Given the description of an element on the screen output the (x, y) to click on. 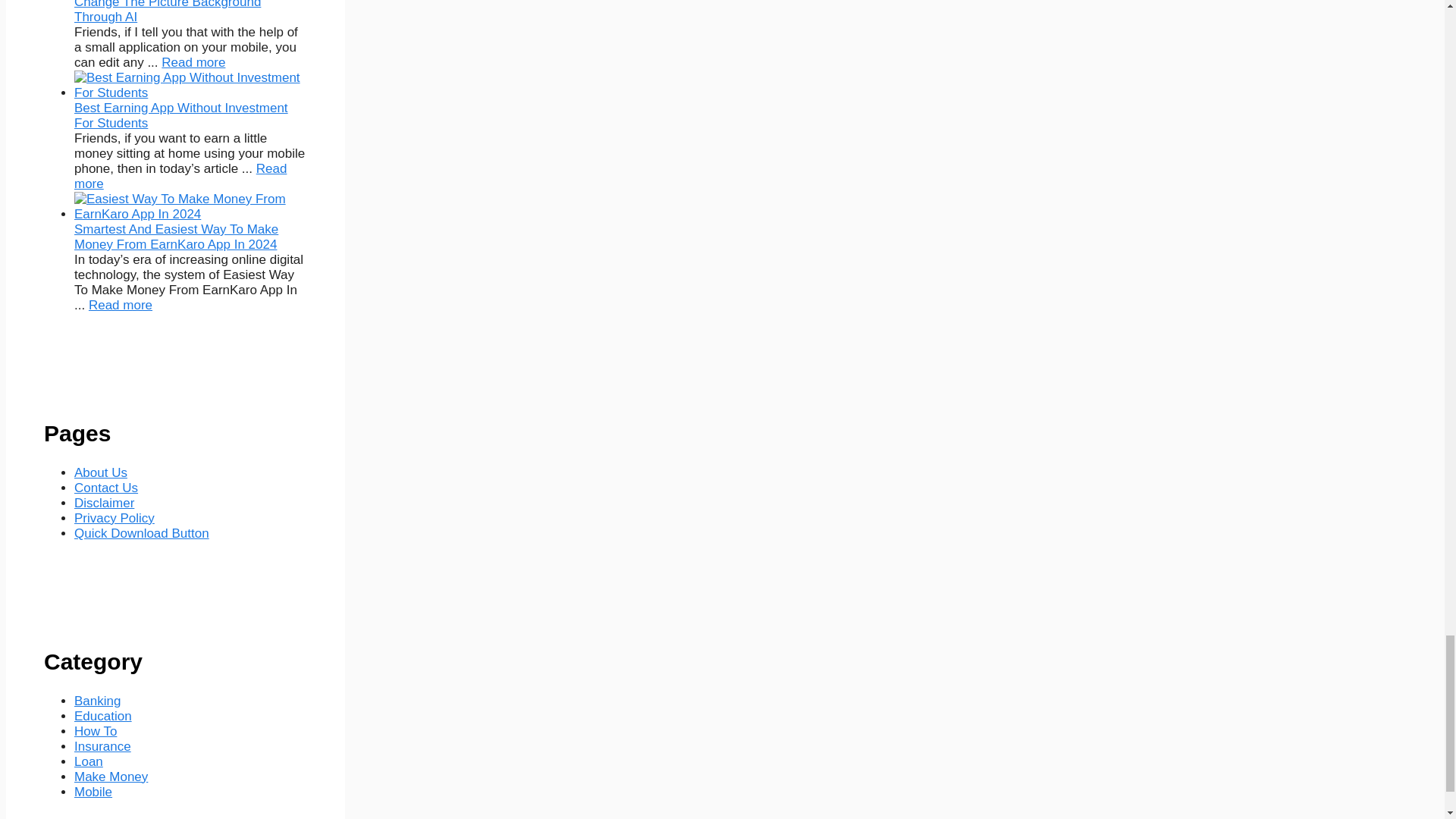
Read more (193, 62)
Banking (97, 700)
Disclaimer (103, 503)
About Us (101, 472)
Best Earning App Without Investment For Students (181, 115)
Best Earning App Without Investment For Students (180, 175)
Privacy Policy (114, 518)
Contact Us (106, 487)
Education (103, 716)
Quick Download Button (141, 533)
Change The Picture Background Through AI (193, 62)
Read more (180, 175)
Read more (120, 305)
